Given the description of an element on the screen output the (x, y) to click on. 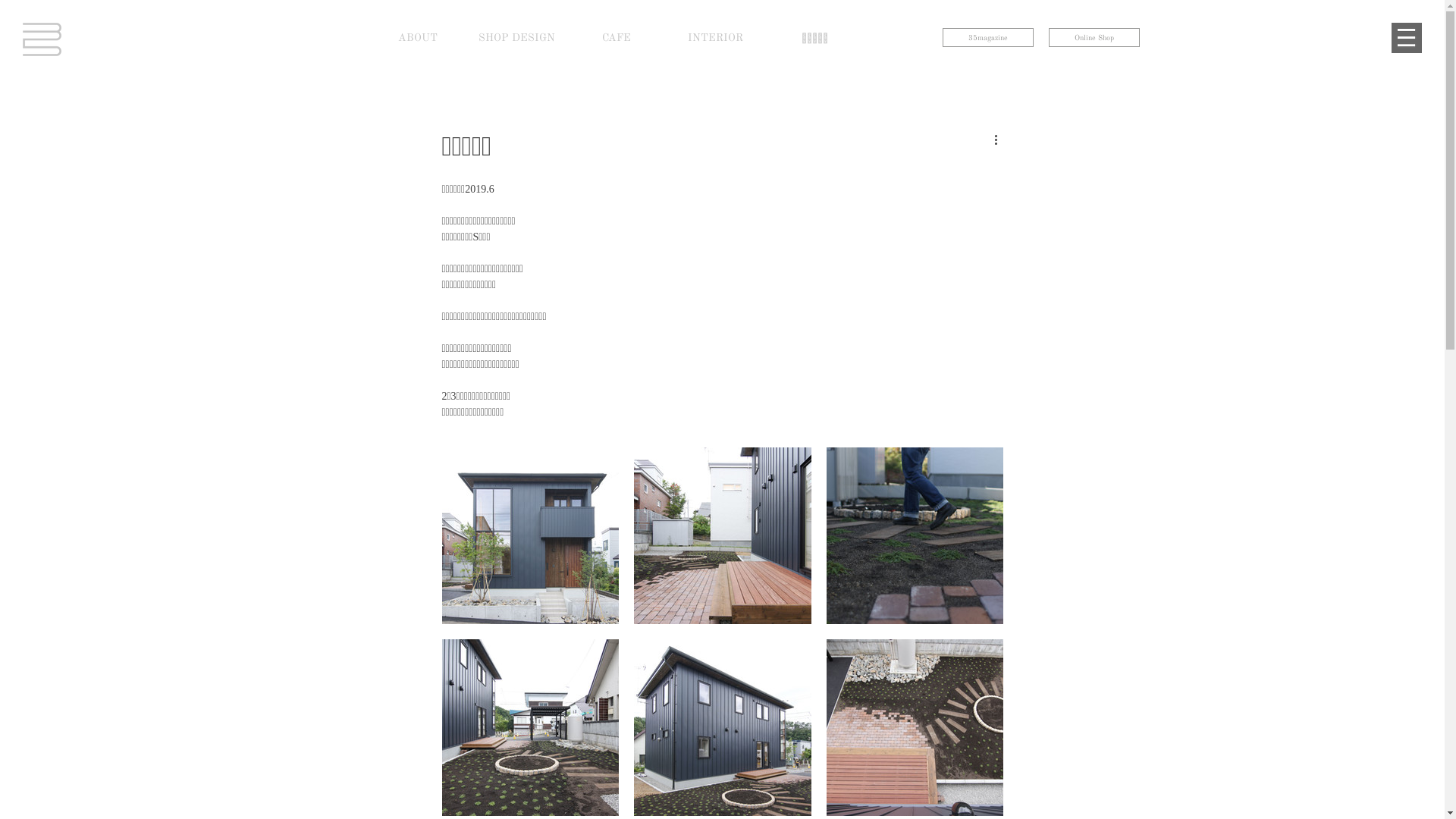
INTERIOR Element type: text (715, 37)
35magazine Element type: text (986, 37)
CAFE Element type: text (615, 37)
SHOP DESIGN Element type: text (516, 37)
ABOUT Element type: text (417, 37)
Online Shop Element type: text (1093, 37)
